Given the description of an element on the screen output the (x, y) to click on. 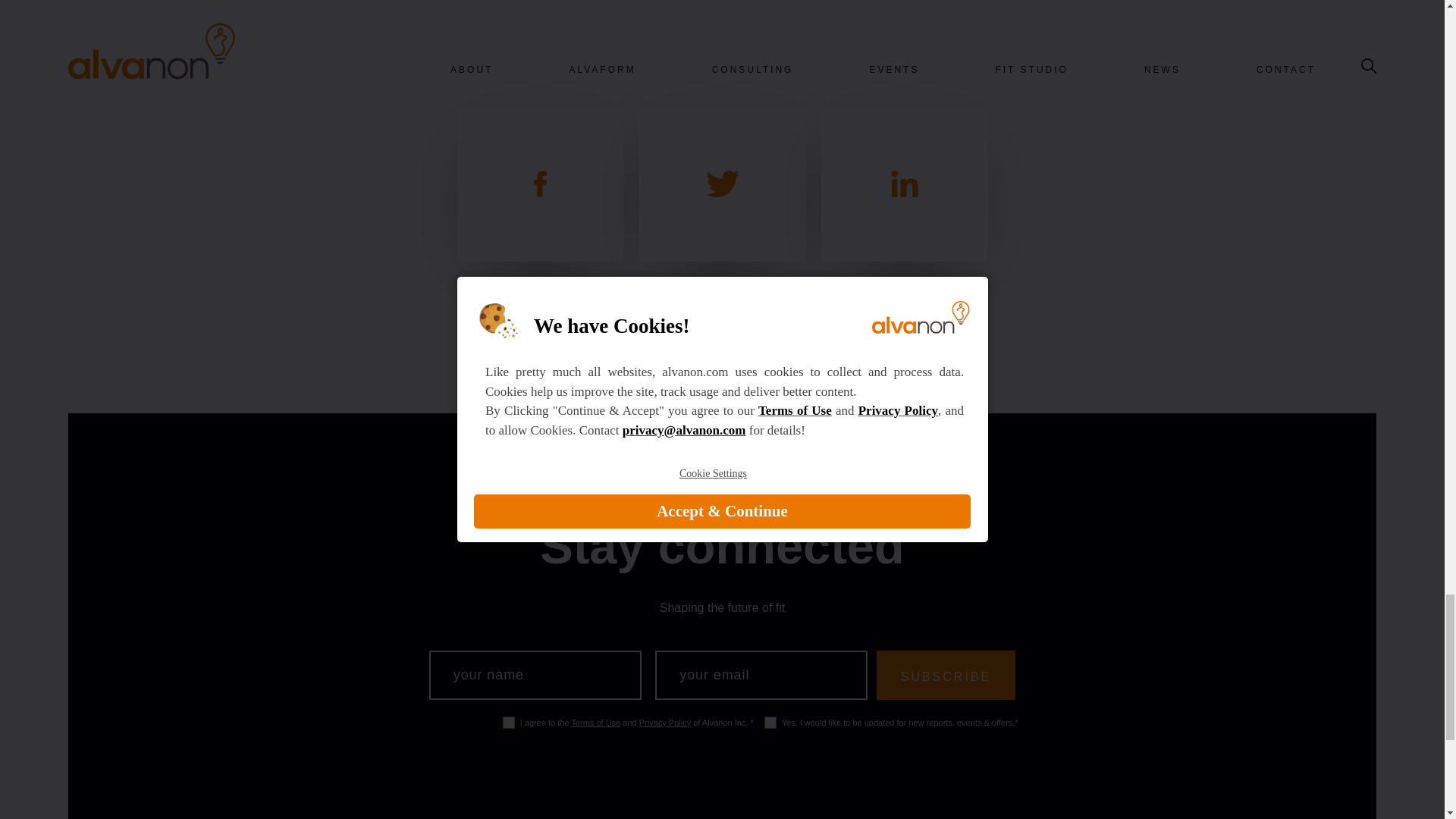
Terms of Use (595, 722)
Privacy Policy (664, 722)
SUBSCRIBE (945, 675)
